Given the description of an element on the screen output the (x, y) to click on. 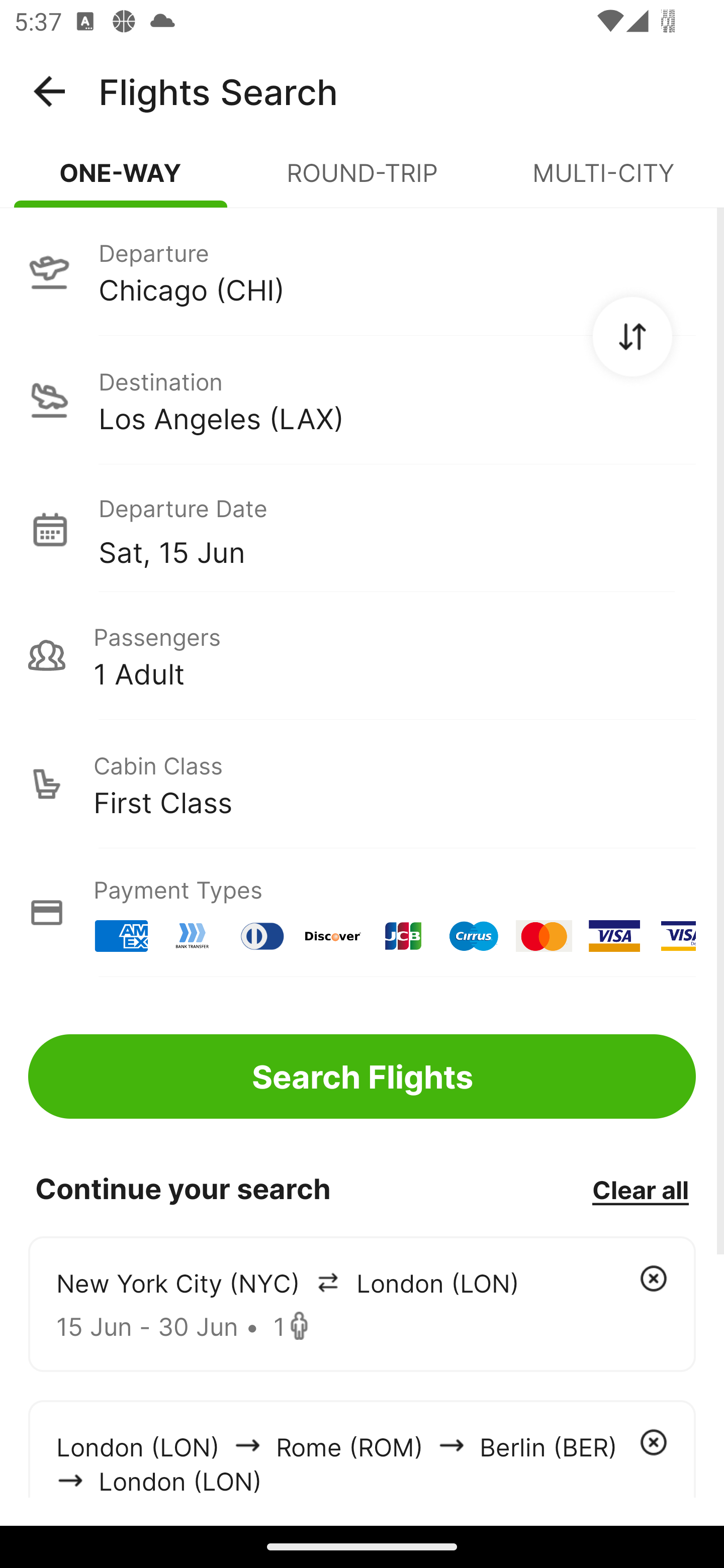
ONE-WAY (120, 180)
ROUND-TRIP (361, 180)
MULTI-CITY (603, 180)
Departure Chicago (CHI) (362, 270)
Destination Los Angeles (LAX) (362, 400)
Departure Date Sat, 15 Jun (396, 528)
Passengers 1 Adult (362, 655)
Cabin Class First Class (362, 783)
Payment Types (362, 912)
Search Flights (361, 1075)
Clear all (640, 1189)
